Given the description of an element on the screen output the (x, y) to click on. 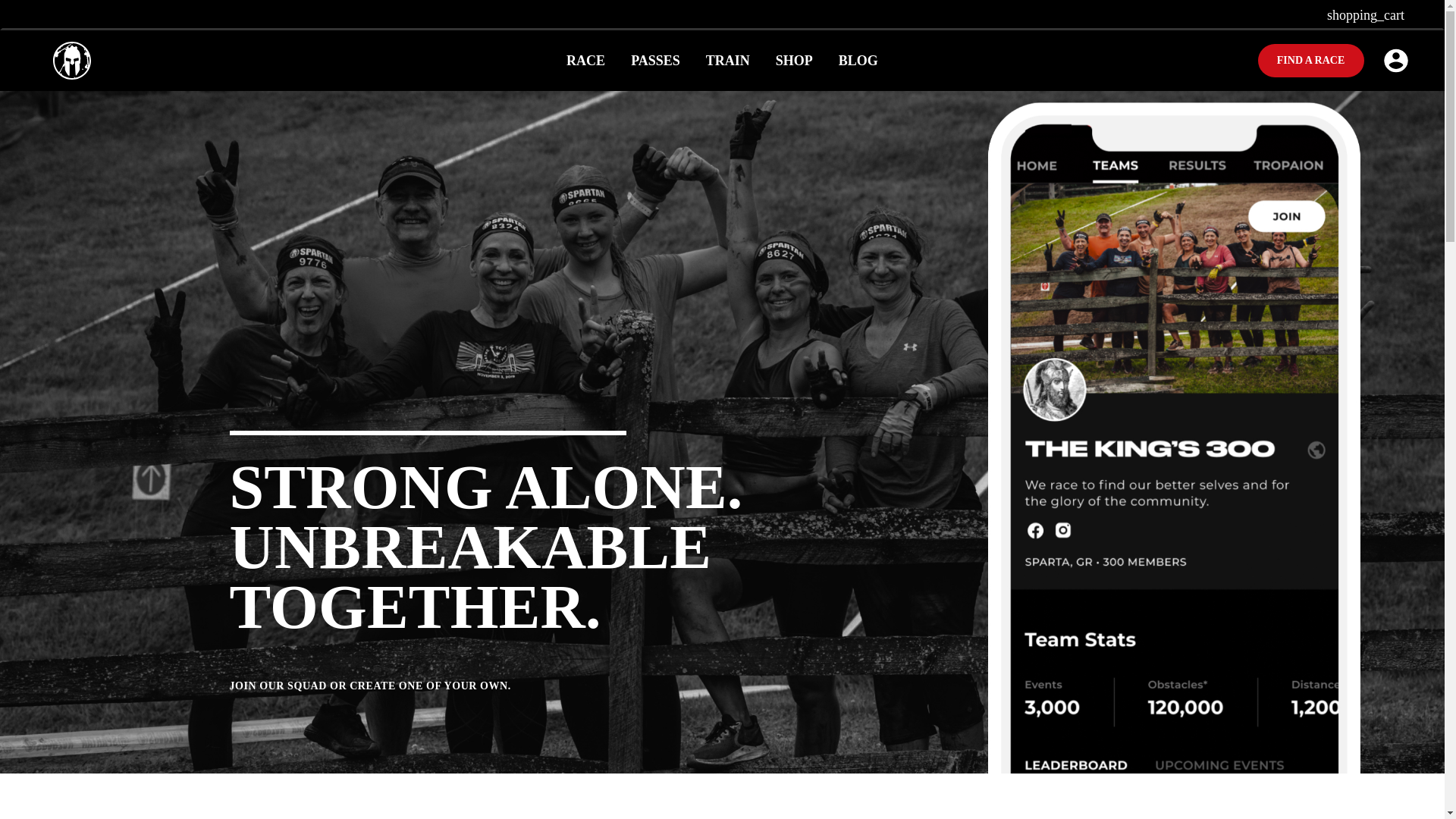
RACE (585, 60)
SHOP (794, 60)
TRAIN (727, 60)
PASSES (654, 60)
